Given the description of an element on the screen output the (x, y) to click on. 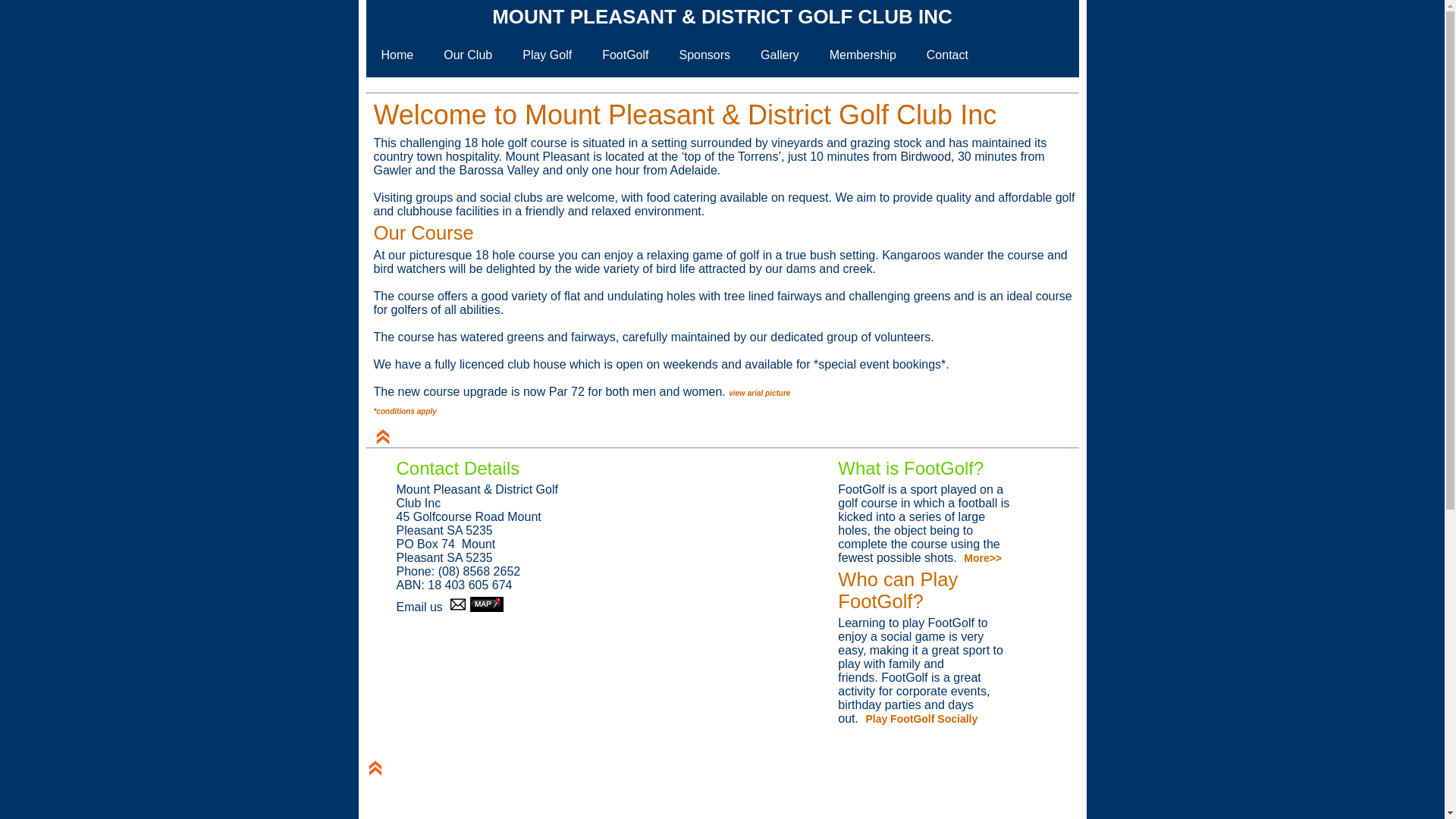
(08) 8568 2652 Element type: text (479, 570)
Gallery Element type: text (779, 55)
Home Element type: text (396, 55)
Send Email Element type: hover (457, 606)
Membership Element type: text (862, 55)
Our Club Element type: text (467, 55)
Send Email Element type: hover (457, 604)
Contact Element type: text (947, 55)
view arial picture Element type: text (759, 391)
Map Element type: hover (486, 603)
Play FootGolf Socially Element type: text (919, 718)
Play Golf Element type: text (546, 55)
Contact Details Element type: text (457, 468)
Back to Top Element type: hover (382, 436)
Sponsors Element type: text (705, 55)
What is FootGolf? Element type: text (910, 468)
More>> Element type: text (980, 557)
FootGolf Element type: text (624, 55)
